Given the description of an element on the screen output the (x, y) to click on. 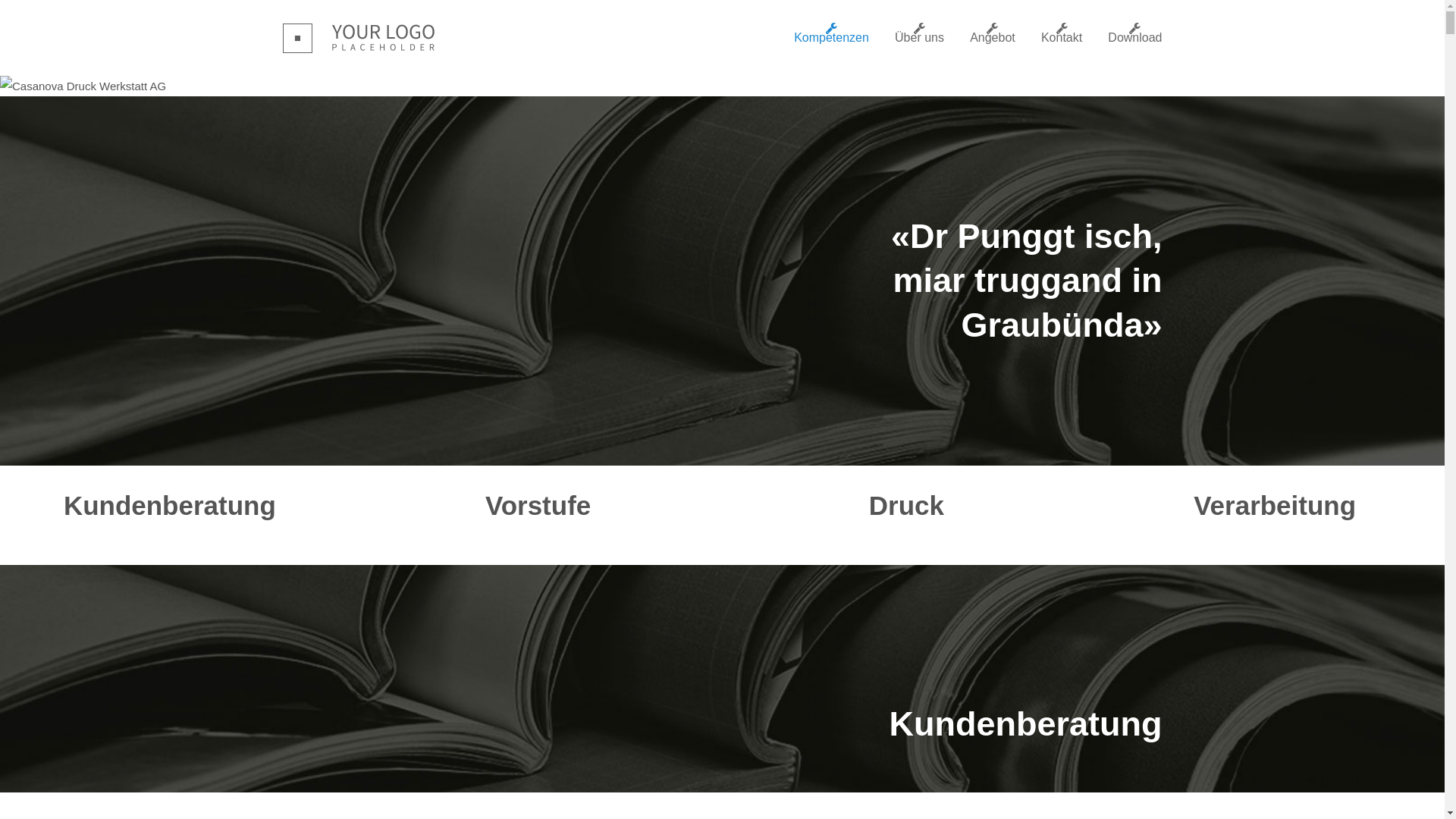
Verarbeitung Element type: text (1274, 505)
Download Element type: text (1134, 37)
Druck Element type: text (906, 505)
Kontakt Element type: text (1061, 37)
Angebot Element type: text (992, 37)
Kompetenzen Element type: text (831, 37)
Kundenberatung Element type: text (169, 505)
Vorstufe Element type: text (537, 505)
